Given the description of an element on the screen output the (x, y) to click on. 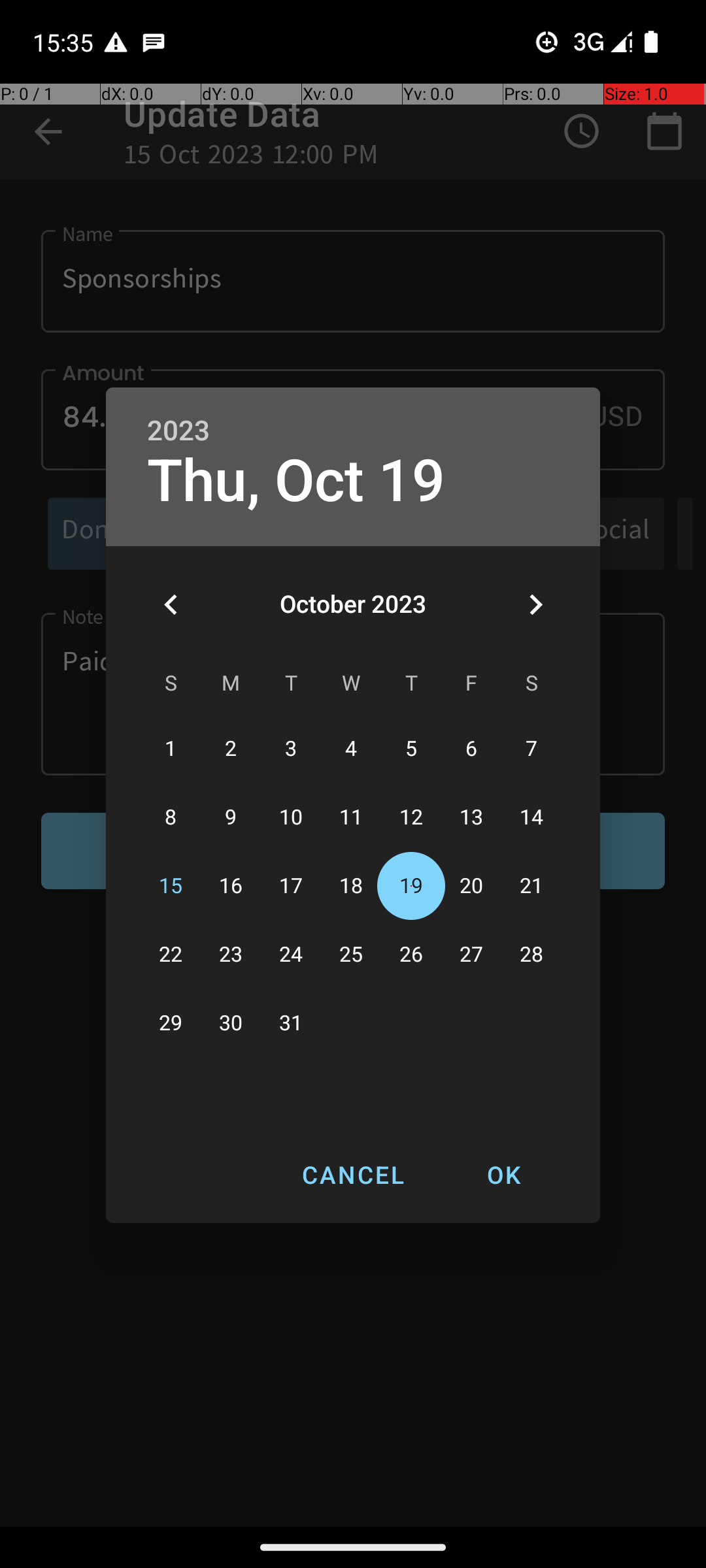
Thu, Oct 19 Element type: android.widget.TextView (296, 480)
